Given the description of an element on the screen output the (x, y) to click on. 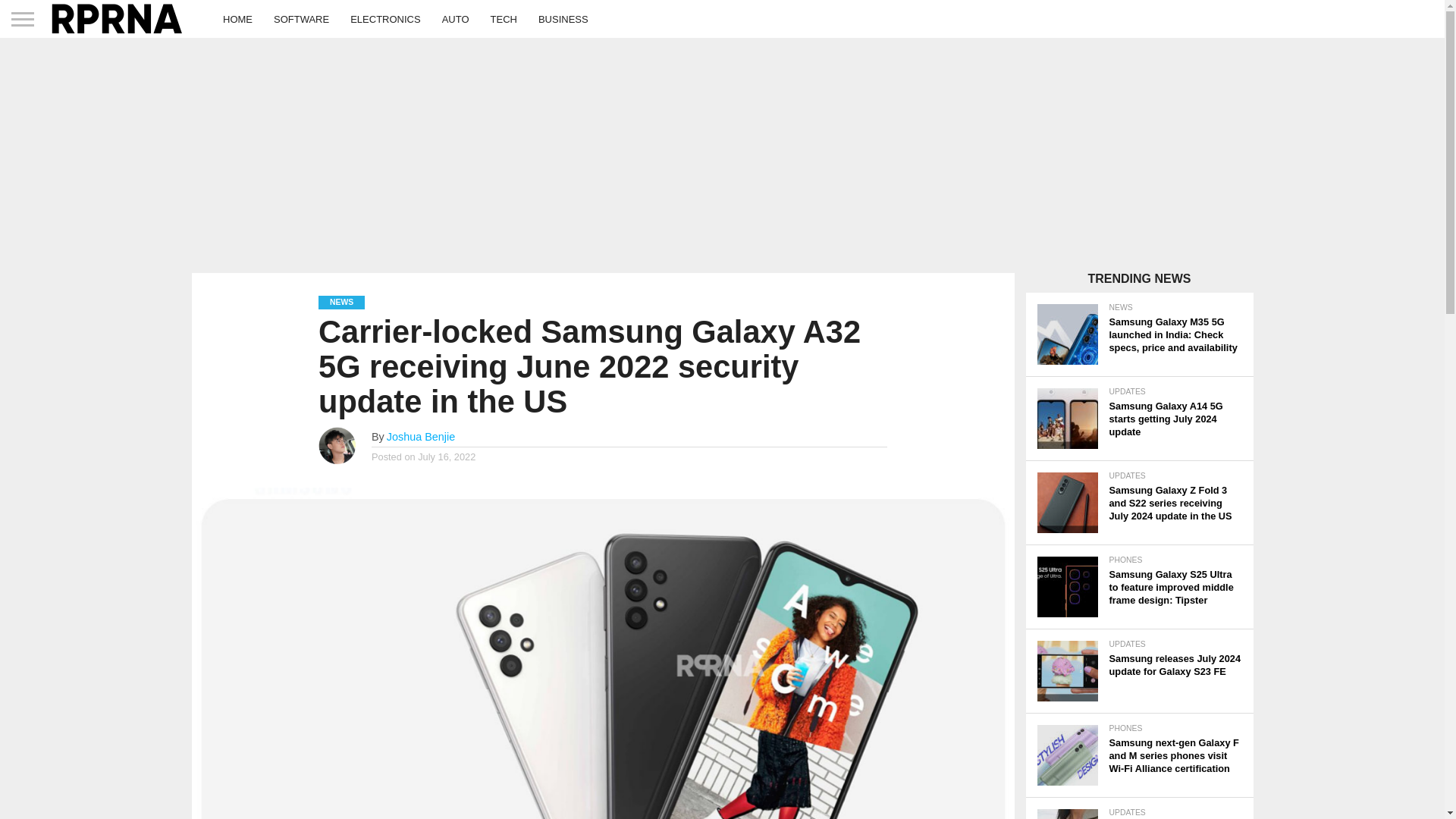
Posts by Joshua Benjie (420, 436)
BUSINESS (562, 18)
Joshua Benjie (420, 436)
AUTO (455, 18)
ELECTRONICS (384, 18)
TECH (503, 18)
SOFTWARE (301, 18)
HOME (237, 18)
